Given the description of an element on the screen output the (x, y) to click on. 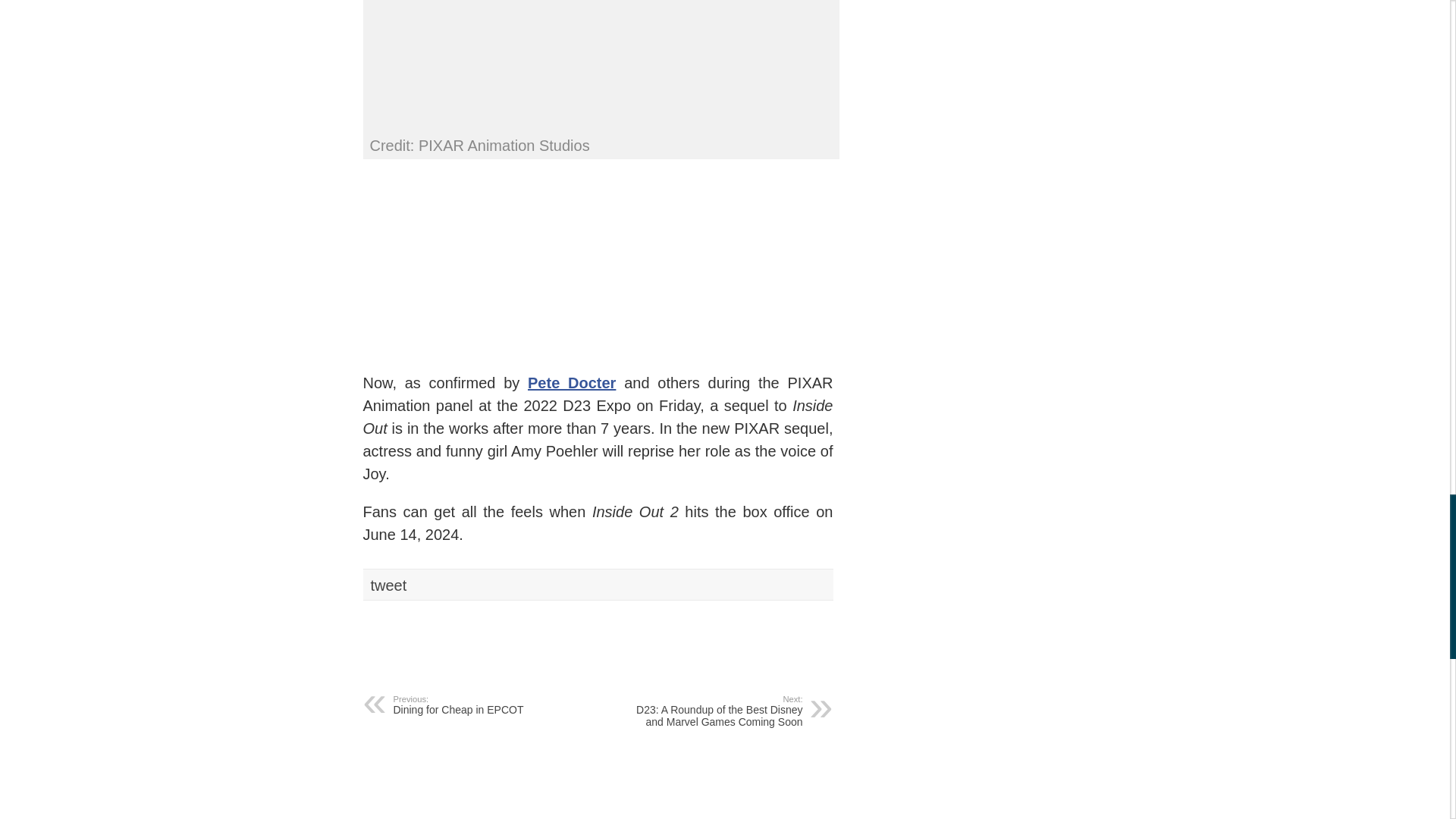
tweet (387, 585)
Pete Docter (485, 704)
Pin It (571, 382)
